Given the description of an element on the screen output the (x, y) to click on. 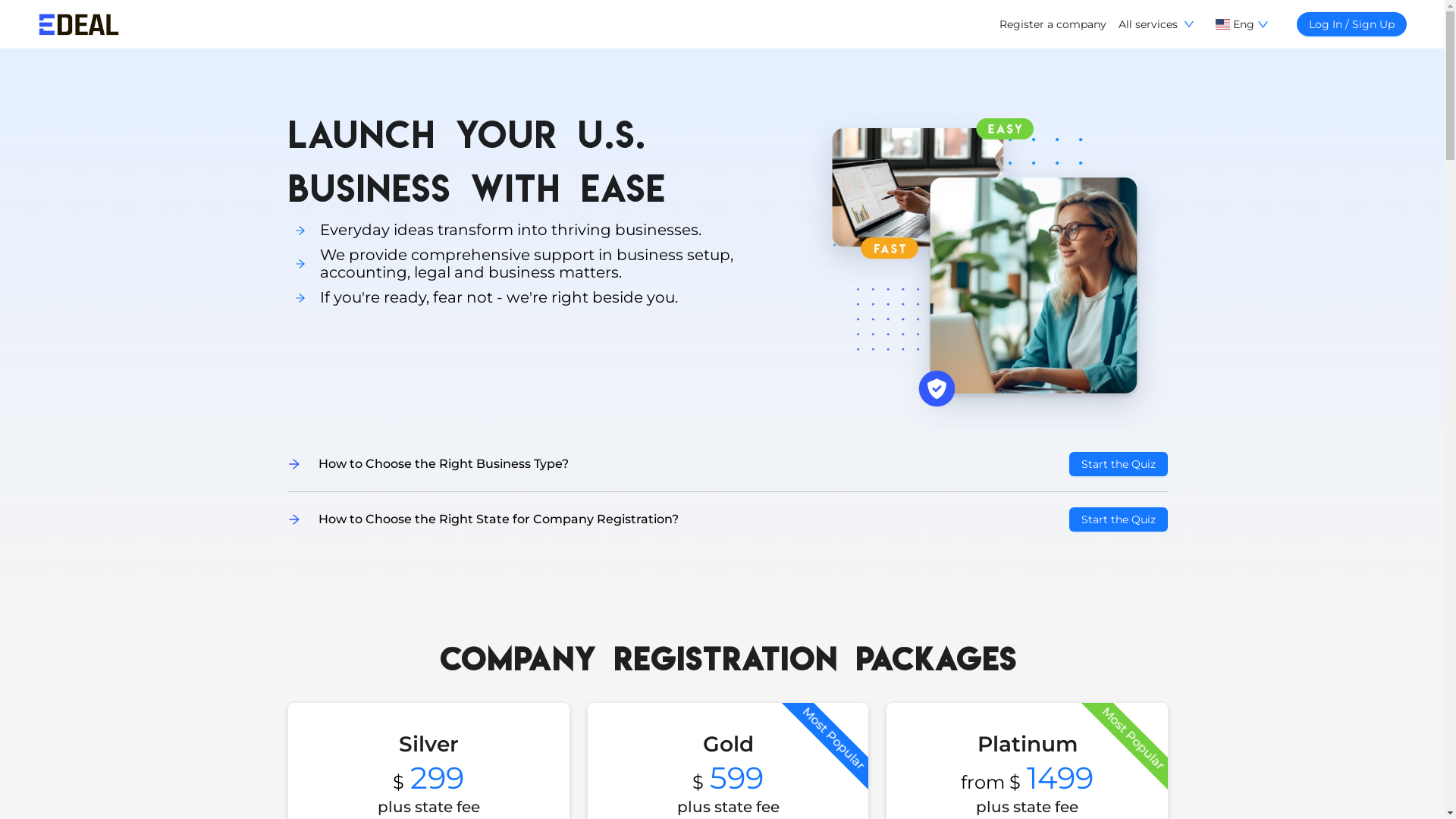
Start the Quiz Element type: text (1118, 463)
Register a company Element type: text (1052, 24)
Log In / Sign Up Element type: text (1351, 24)
Start the Quiz Element type: text (1118, 519)
